Given the description of an element on the screen output the (x, y) to click on. 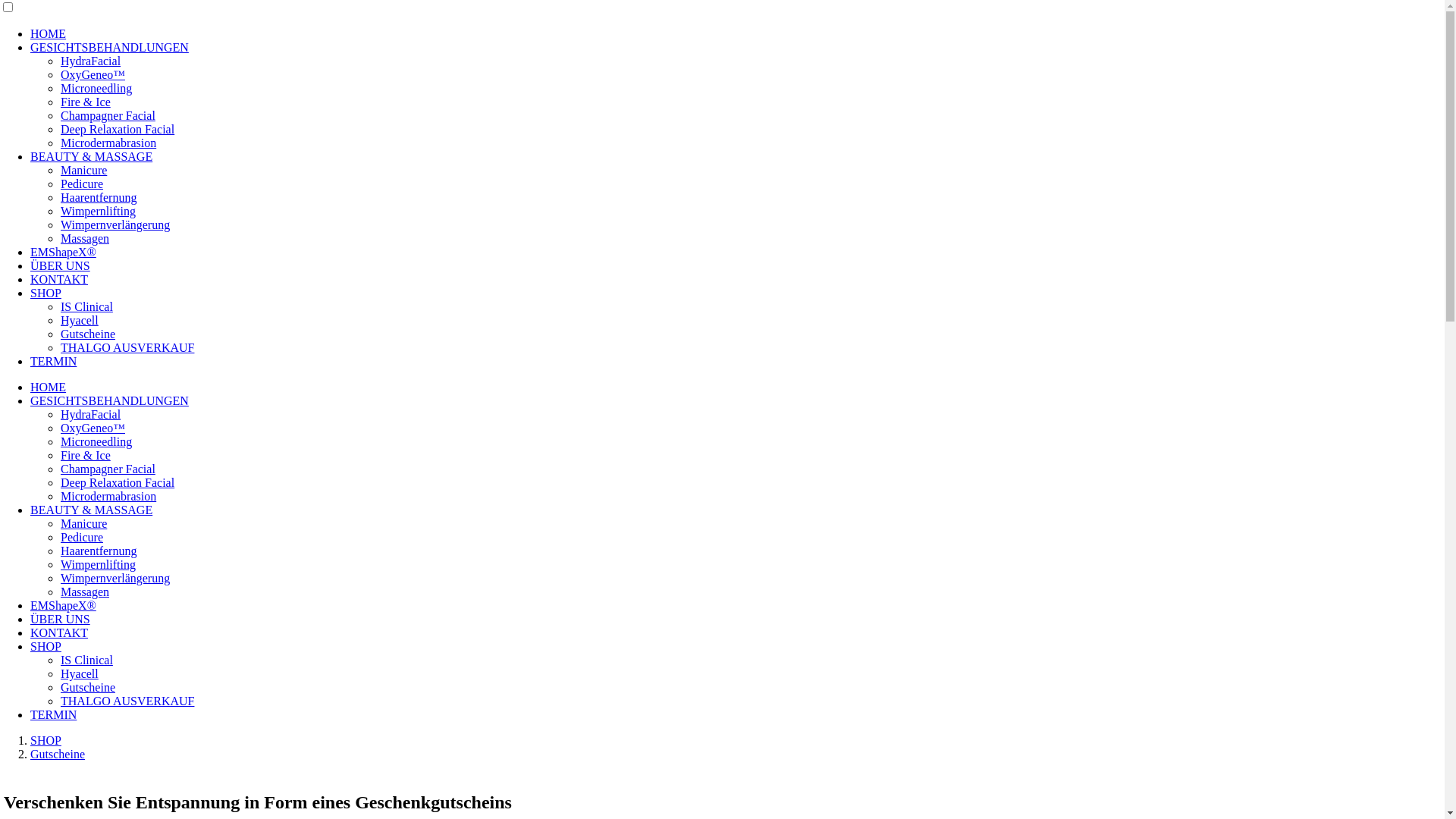
Pedicure Element type: text (81, 183)
IS Clinical Element type: text (86, 659)
SHOP Element type: text (45, 646)
HOME Element type: text (47, 386)
Haarentfernung Element type: text (98, 197)
Hyacell Element type: text (79, 673)
Manicure Element type: text (83, 523)
IS Clinical Element type: text (86, 306)
Hyacell Element type: text (79, 319)
Gutscheine Element type: text (57, 753)
TERMIN Element type: text (53, 360)
THALGO AUSVERKAUF Element type: text (127, 347)
HydraFacial Element type: text (90, 413)
BEAUTY & MASSAGE Element type: text (91, 509)
Massagen Element type: text (84, 238)
GESICHTSBEHANDLUNGEN Element type: text (109, 46)
Microneedling Element type: text (95, 441)
SHOP Element type: text (45, 740)
THALGO AUSVERKAUF Element type: text (127, 700)
Microneedling Element type: text (95, 87)
Champagner Facial Element type: text (107, 468)
Microdermabrasion Element type: text (108, 142)
KONTAKT Element type: text (58, 279)
Gutscheine Element type: text (87, 686)
KONTAKT Element type: text (58, 632)
Microdermabrasion Element type: text (108, 495)
Gutscheine Element type: text (87, 333)
Manicure Element type: text (83, 169)
BEAUTY & MASSAGE Element type: text (91, 156)
HydraFacial Element type: text (90, 60)
Haarentfernung Element type: text (98, 550)
Pedicure Element type: text (81, 536)
Deep Relaxation Facial Element type: text (117, 482)
TERMIN Element type: text (53, 714)
Fire & Ice Element type: text (85, 454)
Wimpernlifting Element type: text (97, 210)
Massagen Element type: text (84, 591)
Deep Relaxation Facial Element type: text (117, 128)
HOME Element type: text (47, 33)
SHOP Element type: text (45, 292)
Champagner Facial Element type: text (107, 115)
Fire & Ice Element type: text (85, 101)
GESICHTSBEHANDLUNGEN Element type: text (109, 400)
Wimpernlifting Element type: text (97, 564)
